Given the description of an element on the screen output the (x, y) to click on. 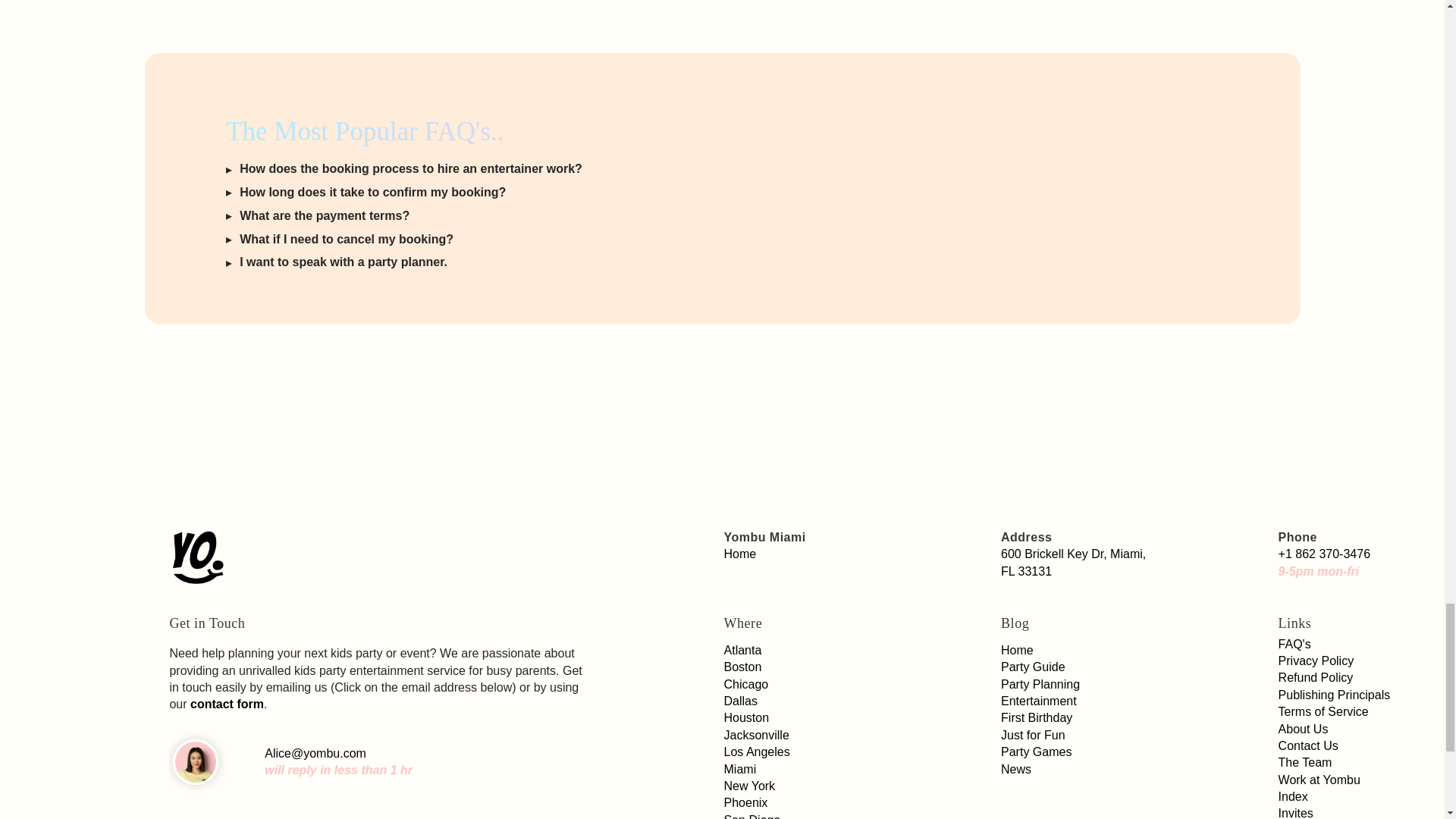
600 Brickell Key Dr, Miami, (1073, 553)
Home (740, 553)
FL 33131 (1026, 571)
contact form (226, 703)
Boston (742, 666)
Atlanta (742, 649)
